Given the description of an element on the screen output the (x, y) to click on. 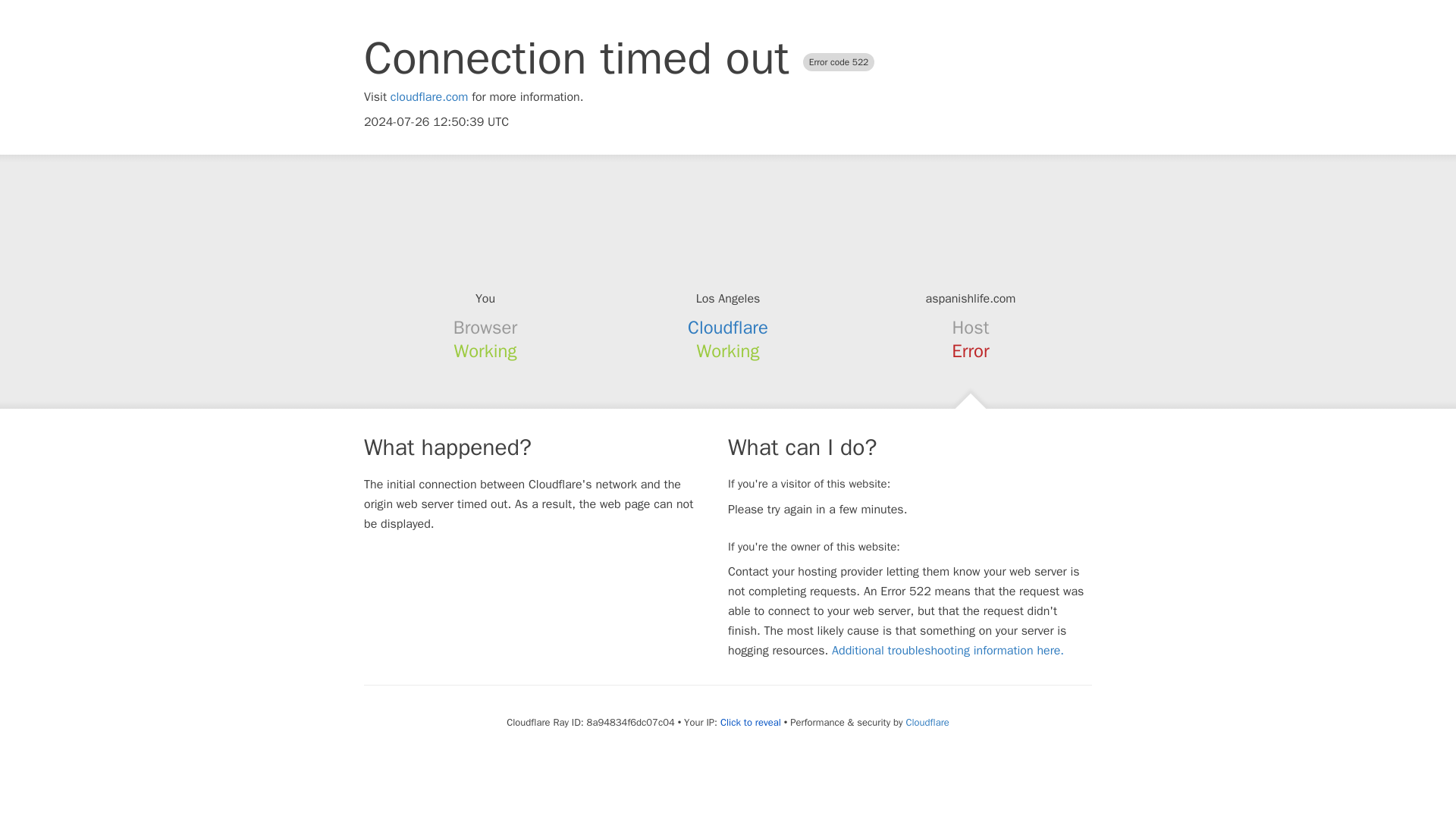
Additional troubleshooting information here. (947, 650)
Cloudflare (727, 327)
Click to reveal (750, 722)
cloudflare.com (429, 96)
Cloudflare (927, 721)
